Given the description of an element on the screen output the (x, y) to click on. 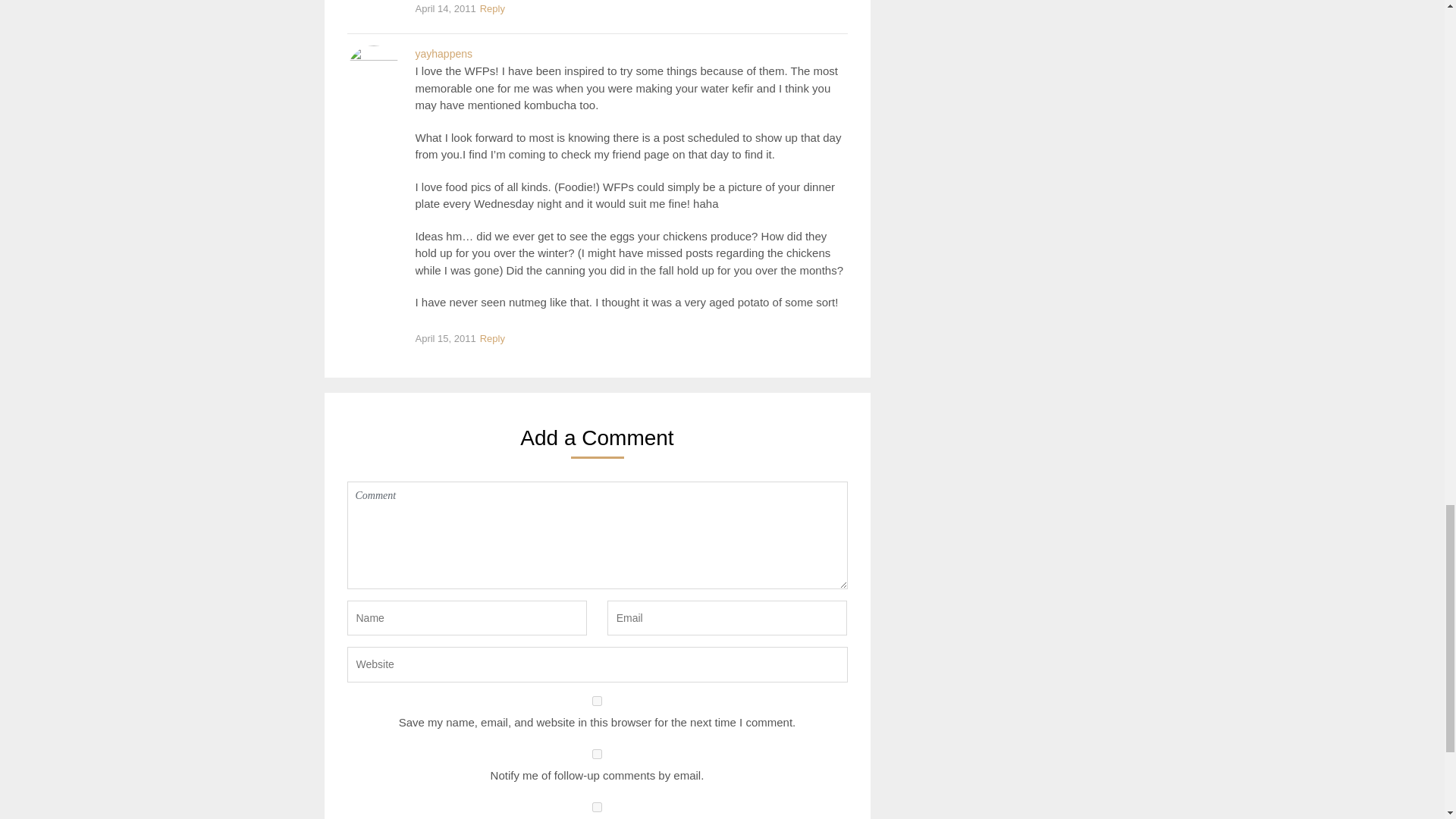
subscribe (597, 754)
subscribe (597, 807)
yes (597, 700)
Reply (492, 339)
yayhappens (443, 53)
Reply (492, 9)
